Given the description of an element on the screen output the (x, y) to click on. 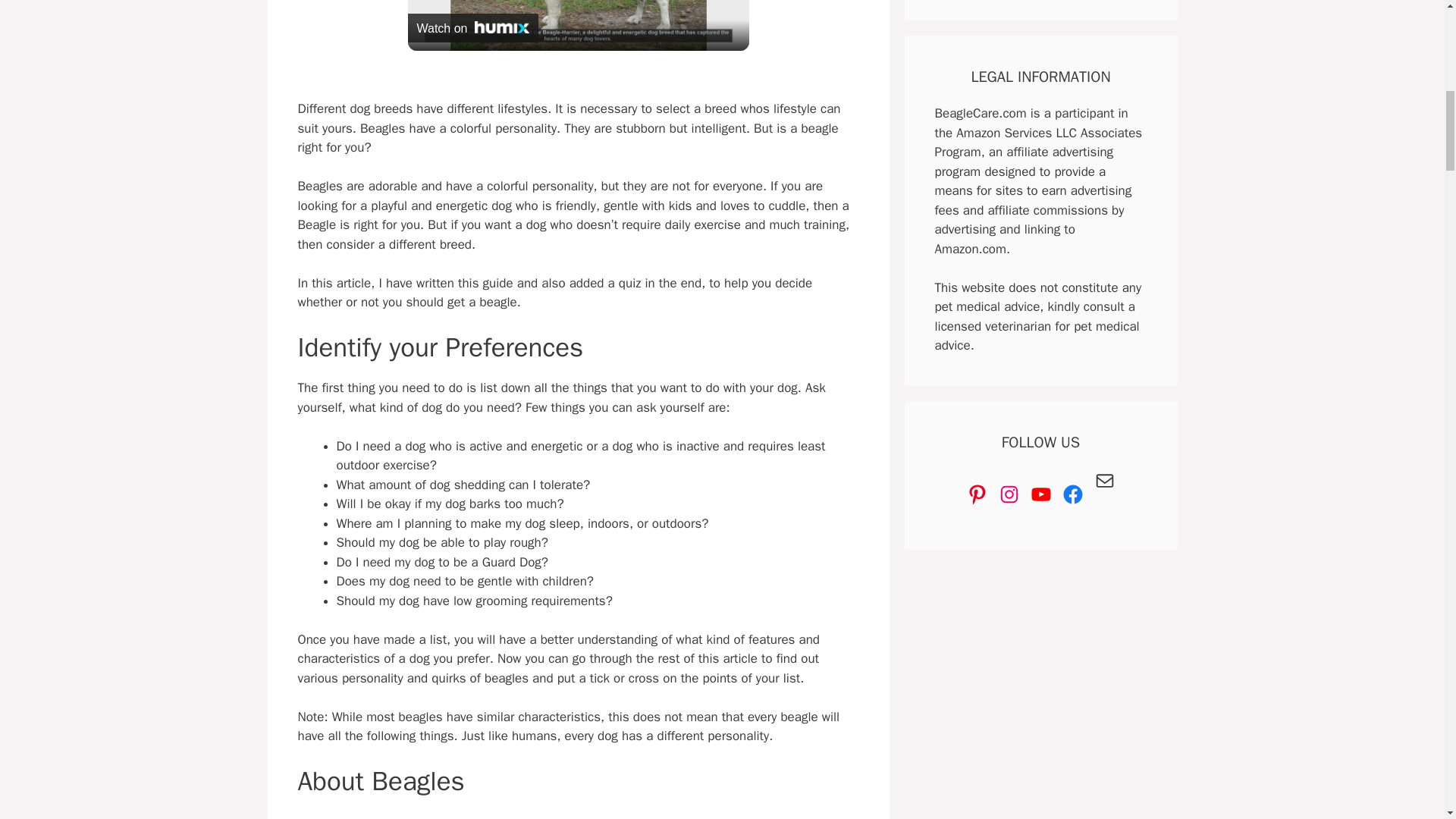
Watch on (472, 27)
